Given the description of an element on the screen output the (x, y) to click on. 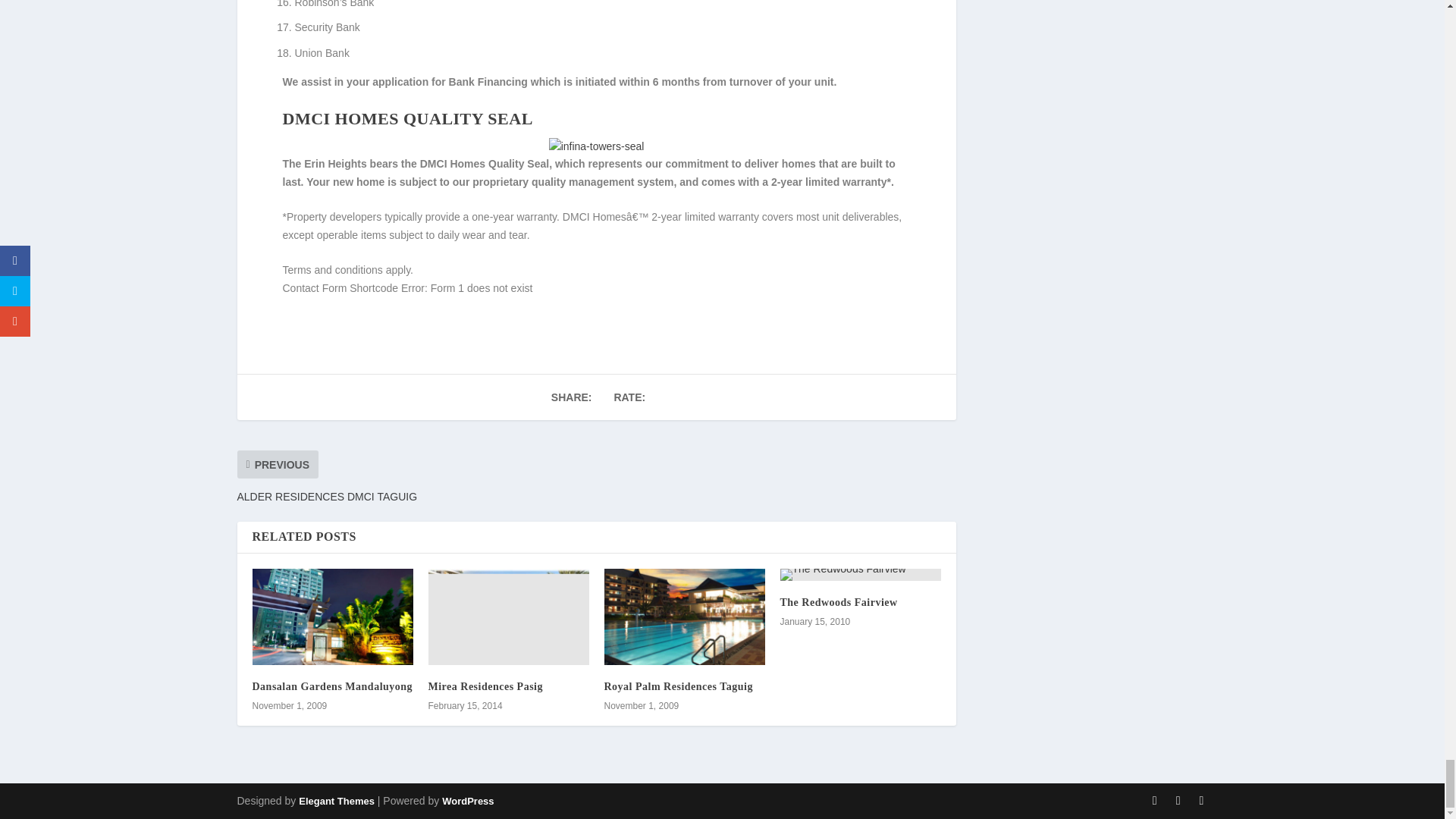
Dansalan Gardens Mandaluyong (331, 616)
Premium WordPress Themes (336, 800)
The Redwoods Fairview (859, 574)
Mirea Residences Pasig (508, 616)
Royal Palm Residences Taguig (684, 616)
